Given the description of an element on the screen output the (x, y) to click on. 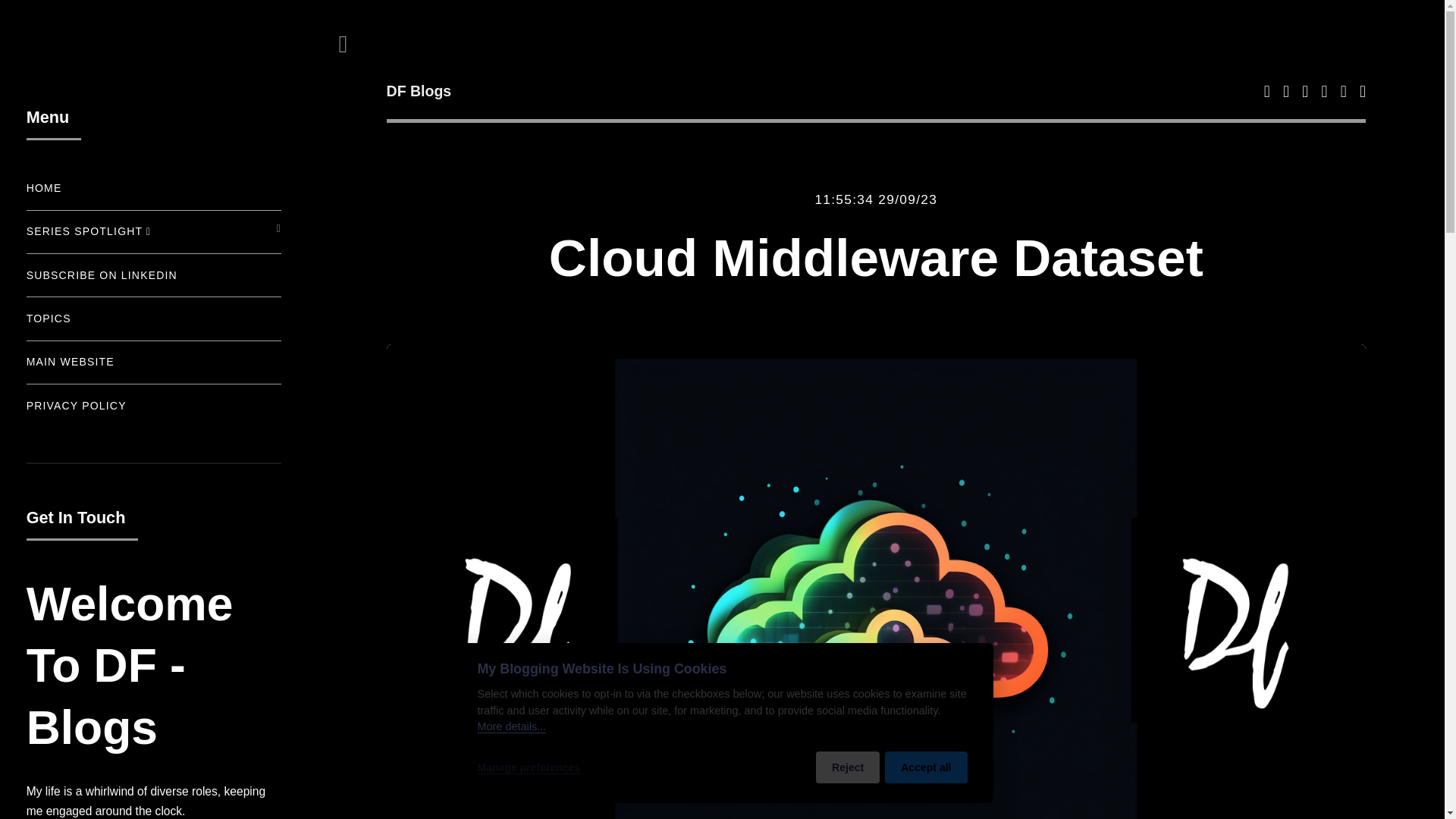
MAIN WEBSITE (153, 361)
HOME (153, 187)
PRIVACY POLICY (153, 405)
TOPICS (153, 318)
SUBSCRIBE ON LINKEDIN (153, 275)
DF Blogs (631, 92)
